Given the description of an element on the screen output the (x, y) to click on. 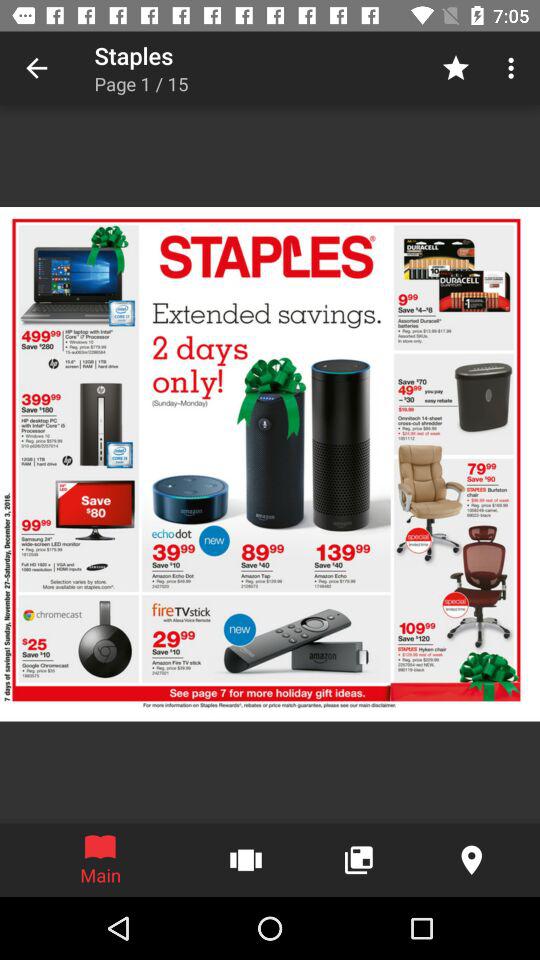
launch the item next to page 1 / 15 icon (455, 67)
